Given the description of an element on the screen output the (x, y) to click on. 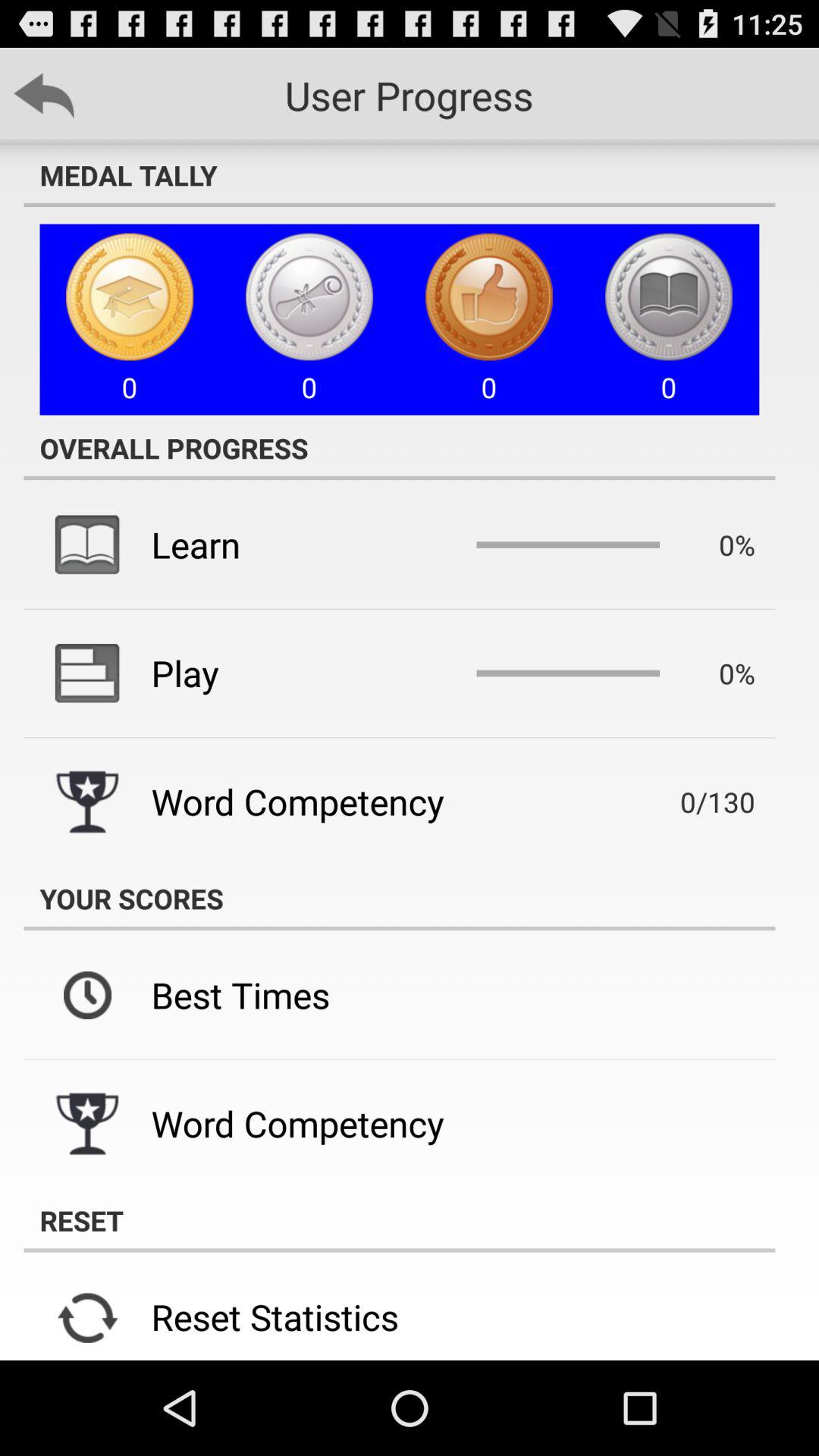
press the item below the 0% item (695, 801)
